Given the description of an element on the screen output the (x, y) to click on. 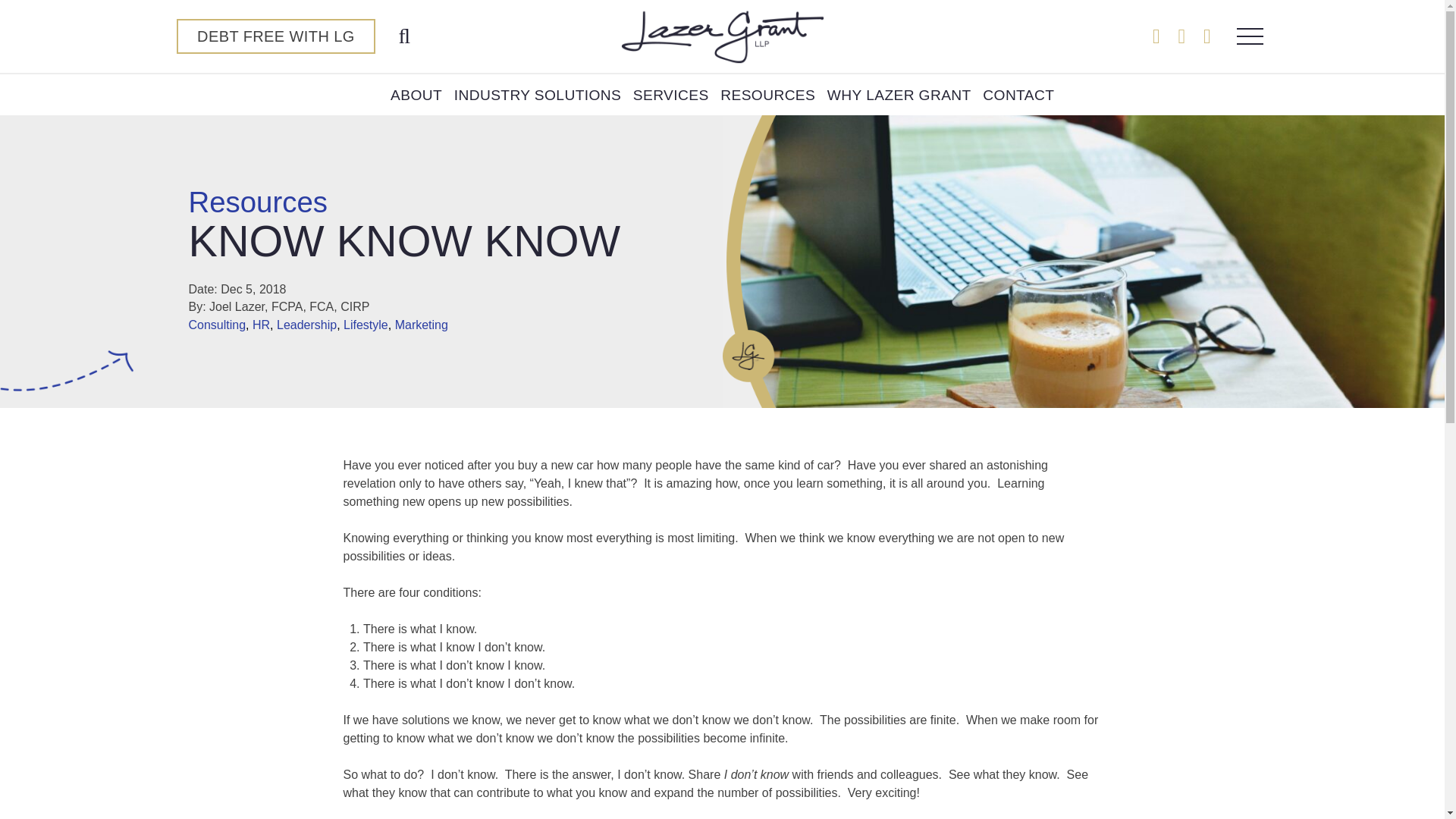
Leadership (306, 324)
ABOUT (416, 94)
CONTACT (1017, 94)
WHY LAZER GRANT (898, 94)
SERVICES (670, 94)
Lifestyle (365, 324)
RESOURCES (767, 94)
DEBT FREE WITH LG (275, 36)
INDUSTRY SOLUTIONS (537, 94)
Marketing (421, 324)
HR (260, 324)
Consulting (216, 324)
